Given the description of an element on the screen output the (x, y) to click on. 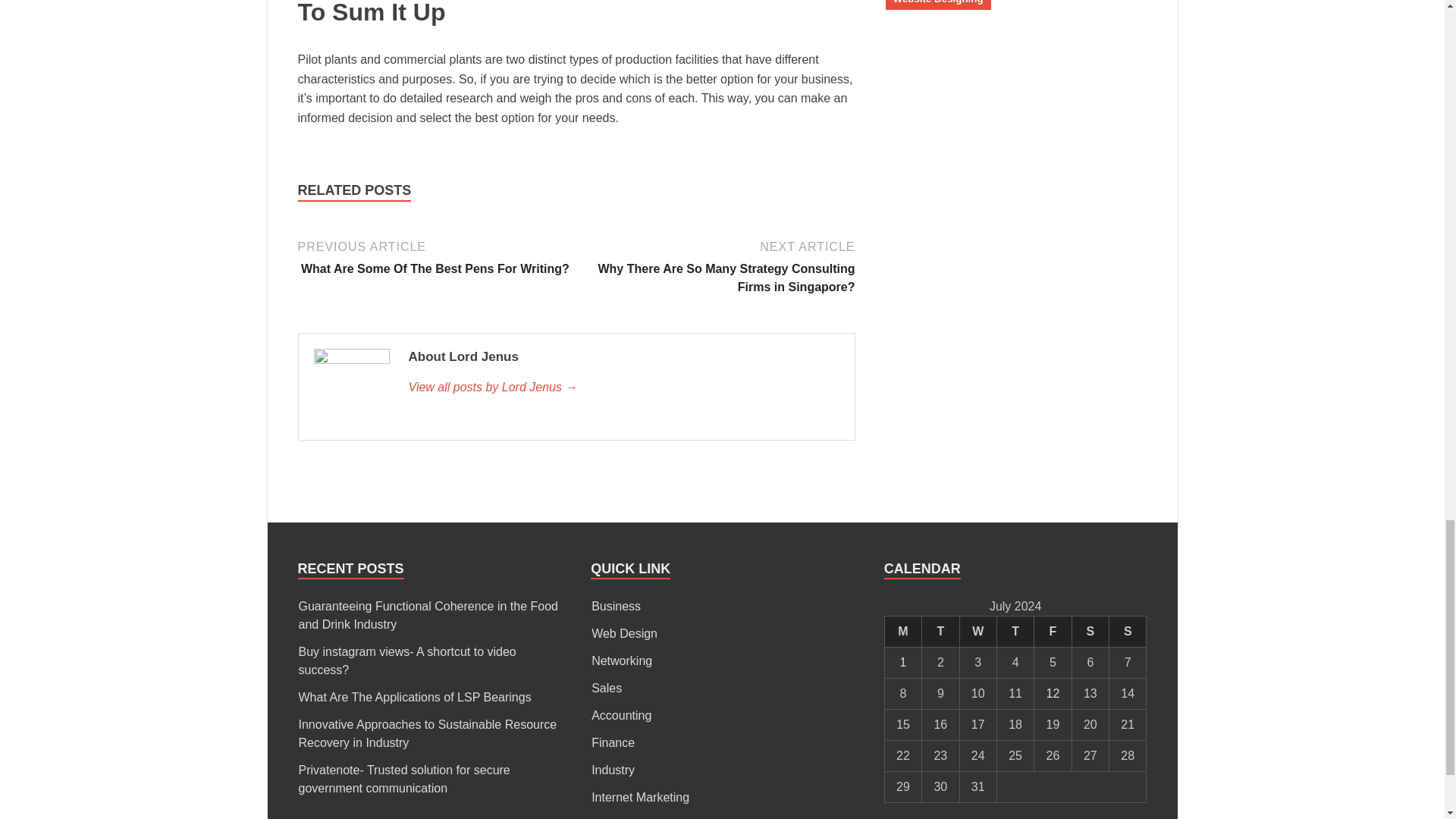
Friday (1052, 631)
Wednesday (977, 631)
Lord Jenus (622, 387)
Tuesday (940, 631)
Monday (902, 631)
Saturday (1089, 631)
Thursday (1014, 631)
Sunday (1128, 631)
